Given the description of an element on the screen output the (x, y) to click on. 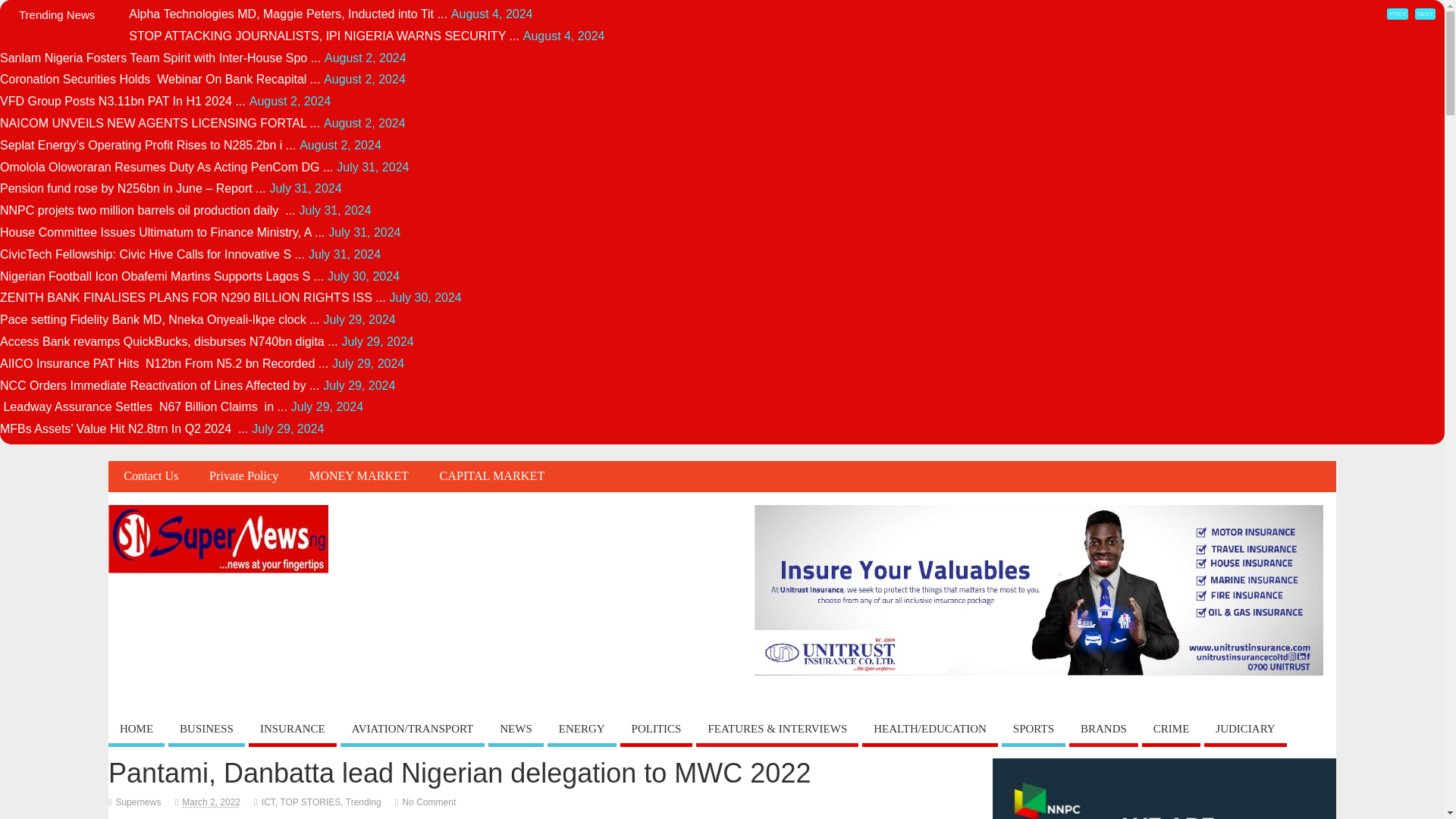
Coronation Securities Holds  Webinar On Bank Recapital ... (160, 78)
House Committee Issues Ultimatum to Finance Ministry, A ... (162, 232)
Sanlam Nigeria Fosters Team Spirit with Inter-House Spo ... (160, 57)
VFD Group Posts N3.11bn PAT In H1 2024 ... (123, 101)
Omolola Oloworaran Resumes Duty As Acting PenCom DG ... (166, 166)
Private Policy (243, 476)
AIICO Insurance PAT Hits  N12bn From N5.2 bn Recorded ... (164, 363)
NCC Orders Immediate Reactivation of Lines Affected by ... (159, 385)
NNPC projets two million barrels oil production daily  ... (147, 210)
Access Bank revamps QuickBucks, disburses N740bn digita ... (168, 341)
 Leadway Assurance Settles  N67 Billion Claims  in ... (143, 406)
NAICOM UNVEILS NEW AGENTS LICENSING FORTAL ... (160, 123)
CivicTech Fellowship: Civic Hive Calls for Innovative S ... (152, 254)
STOP ATTACKING JOURNALISTS, IPI NIGERIA WARNS SECURITY ... (323, 35)
Contact Us (150, 476)
